Given the description of an element on the screen output the (x, y) to click on. 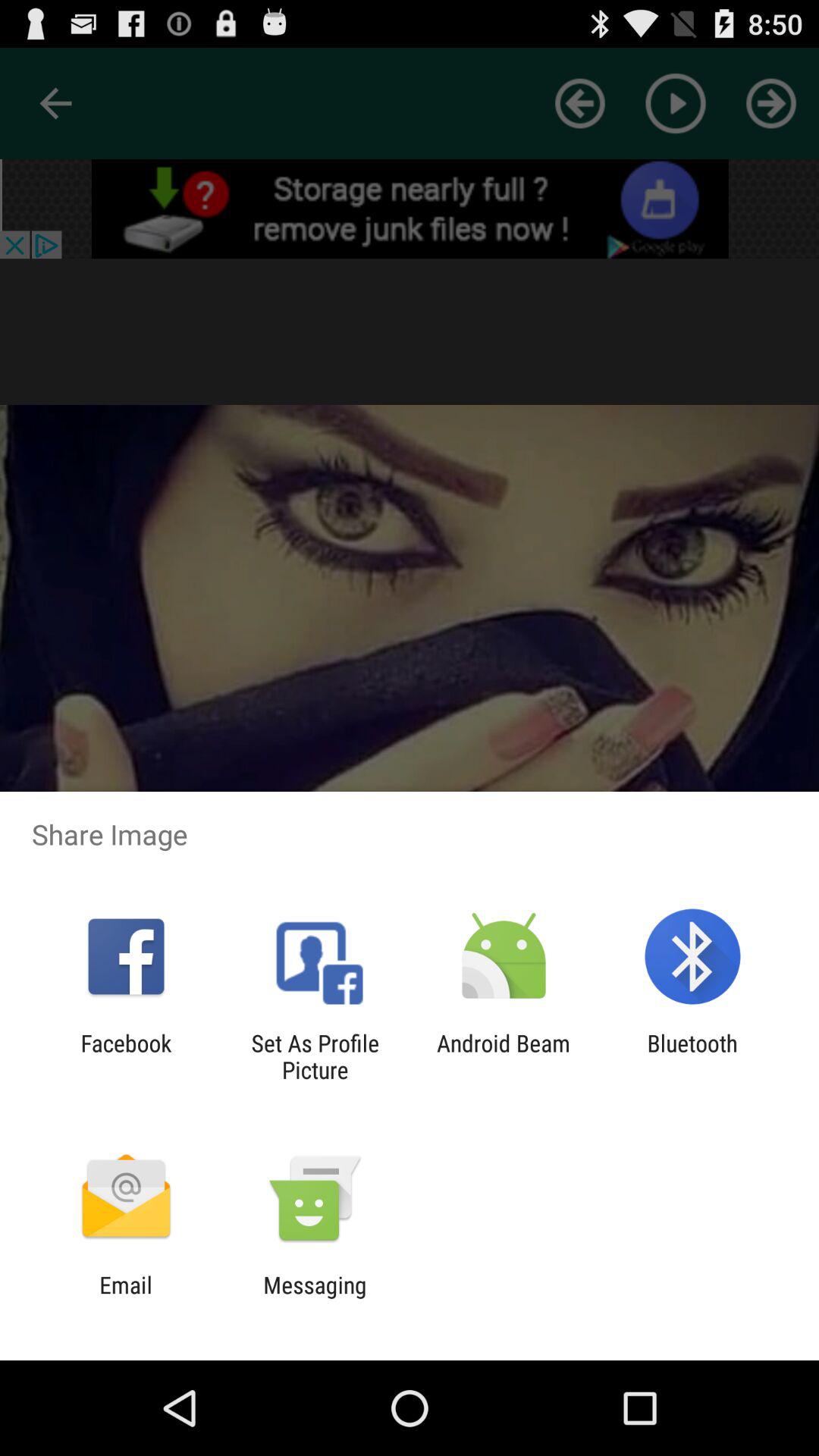
turn off item to the left of the android beam item (314, 1056)
